Given the description of an element on the screen output the (x, y) to click on. 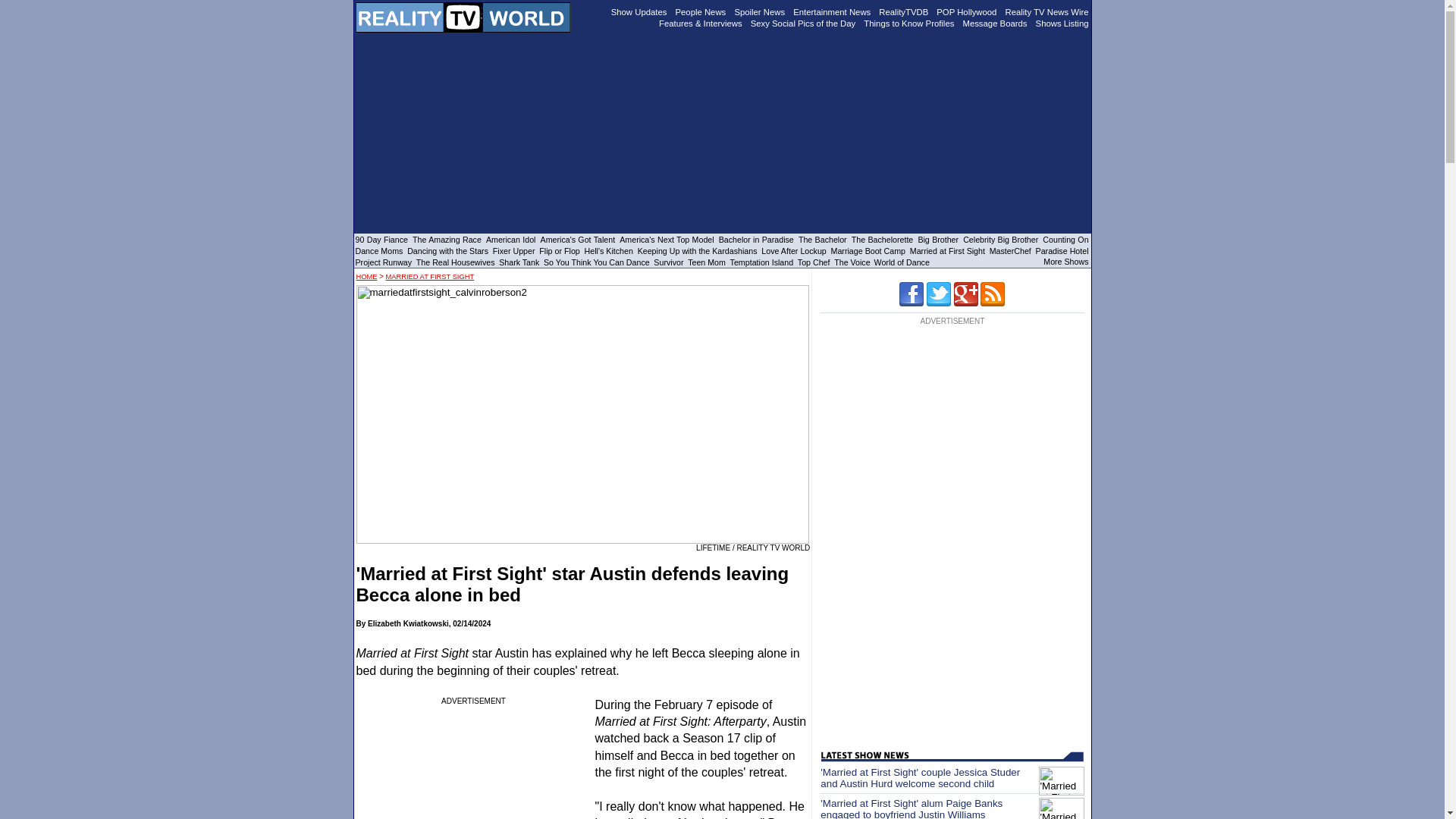
Reality TV News Wire (1047, 11)
America's Got Talent (577, 239)
Married at First Sight (947, 250)
Social Pics (803, 22)
Entertainment News (831, 11)
American Idol (510, 239)
Show Updates (638, 11)
Dancing with the Stars (447, 250)
Dancing with the Stars (447, 250)
POP Hollywood (965, 11)
